Given the description of an element on the screen output the (x, y) to click on. 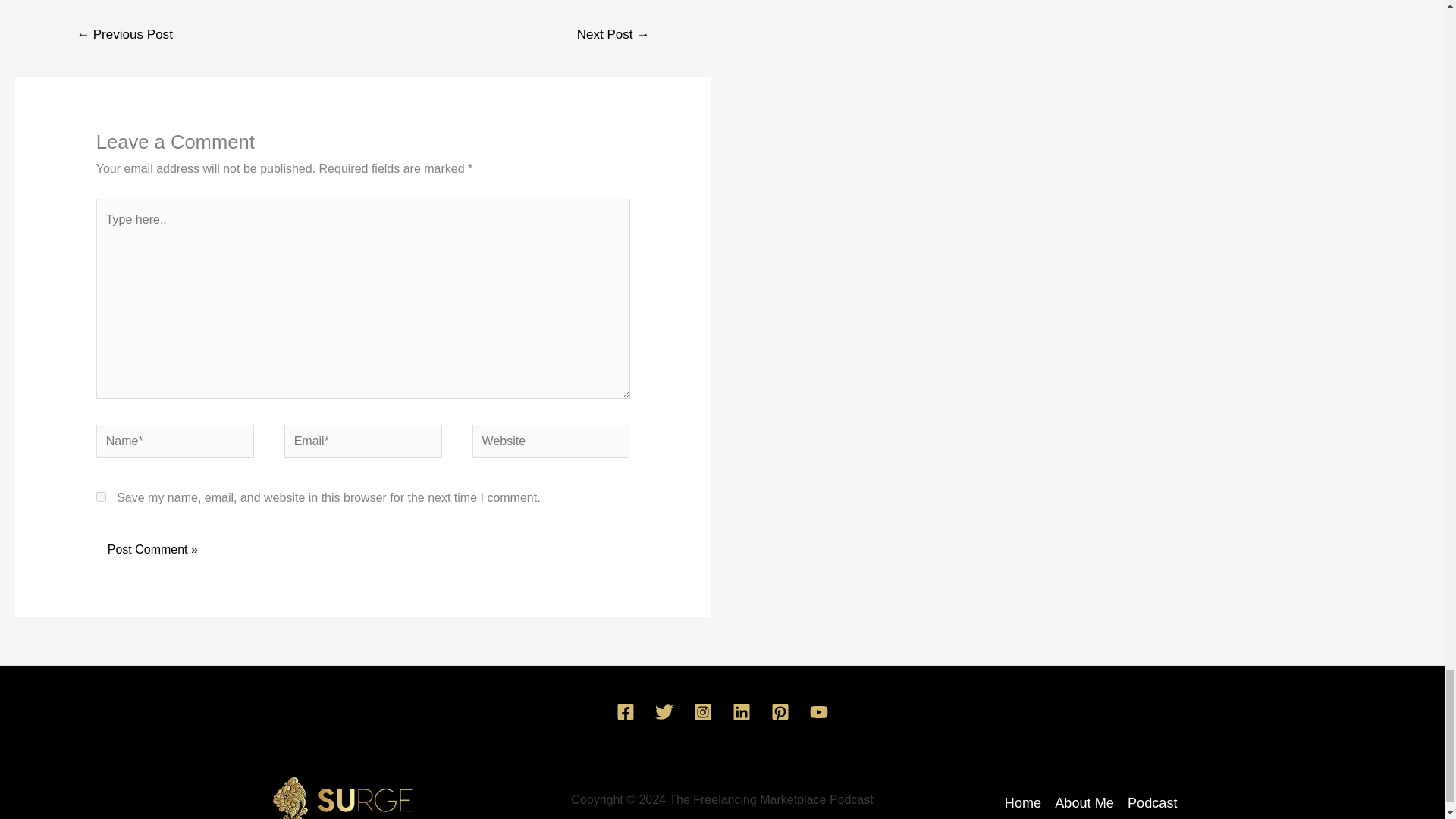
yes (101, 497)
About Me (1084, 803)
Home (1026, 803)
Podcast (1149, 803)
